Given the description of an element on the screen output the (x, y) to click on. 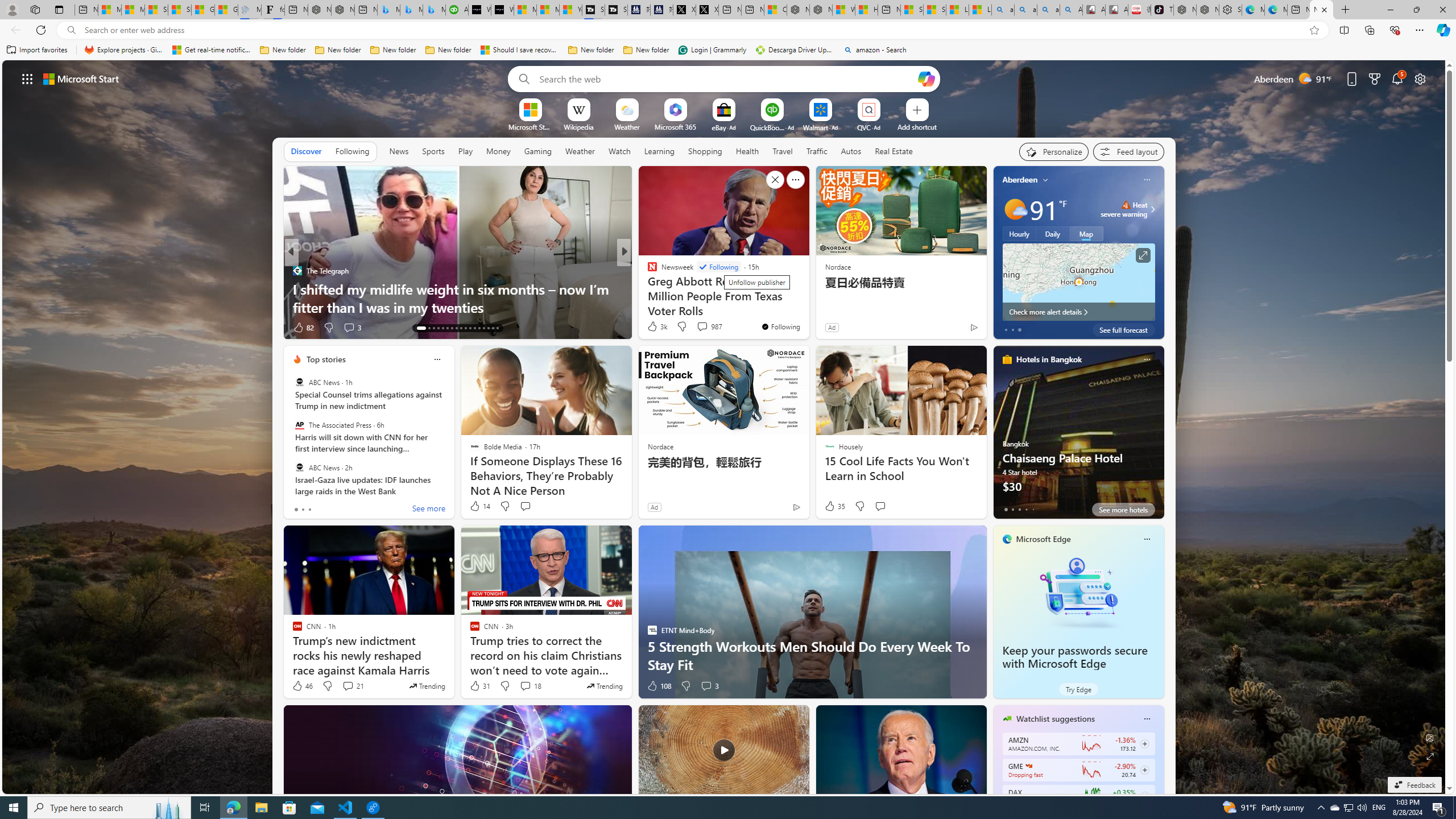
Watchlist suggestions (1055, 718)
View comments 52 Comment (704, 327)
AutomationID: tab-22 (465, 328)
AutomationID: waffle (27, 78)
Keep your passwords secure with Microsoft Edge (1074, 657)
Check more alert details (1077, 311)
AutomationID: tab-28 (492, 328)
View comments 17 Comment (707, 327)
